Given the description of an element on the screen output the (x, y) to click on. 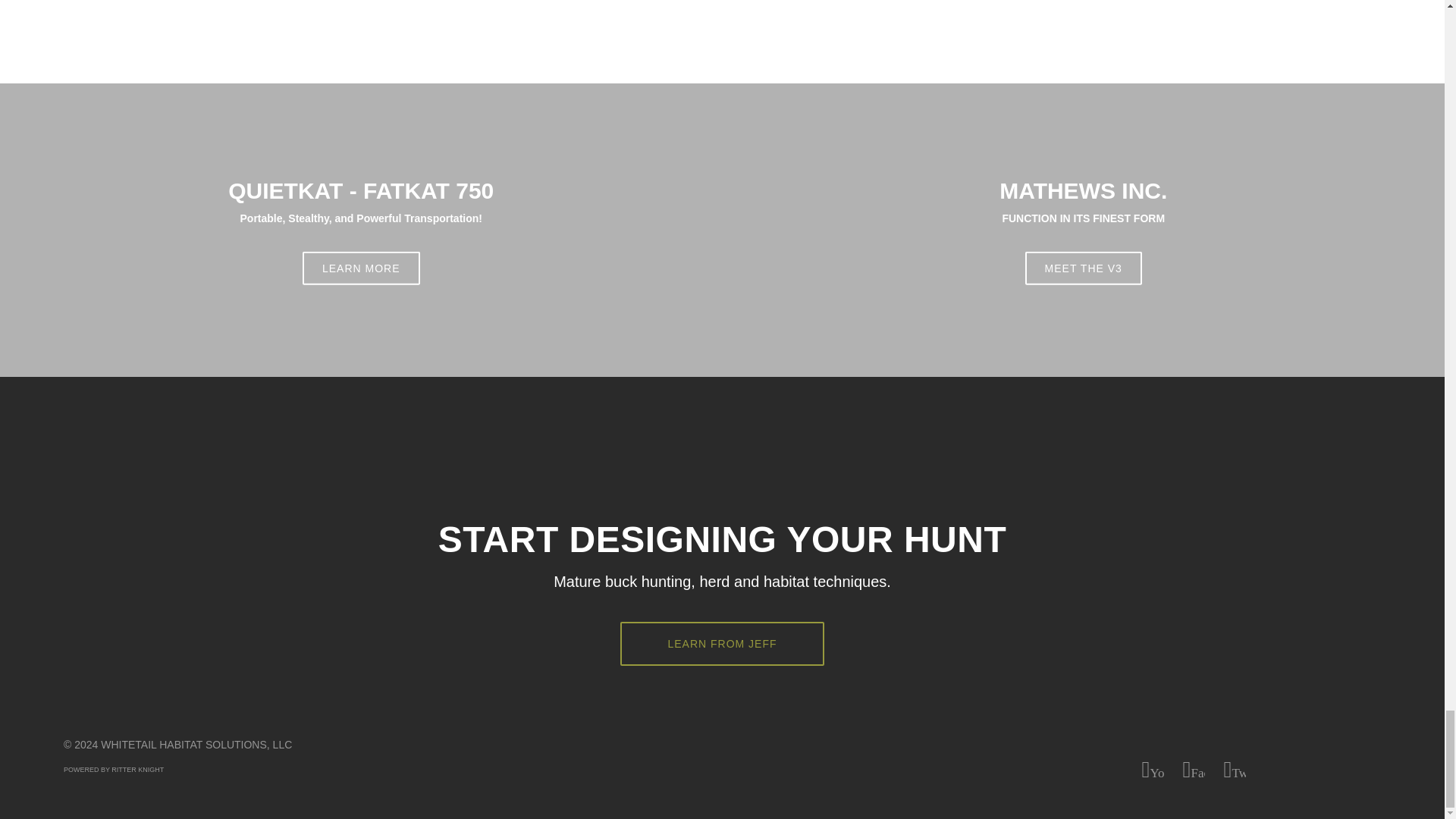
YouTube (1193, 769)
MEET THE V3 (1152, 769)
LEARN FROM JEFF (1083, 268)
LEARN MORE (722, 643)
Twitter (361, 268)
RITTER KNIGHT (1235, 769)
